Given the description of an element on the screen output the (x, y) to click on. 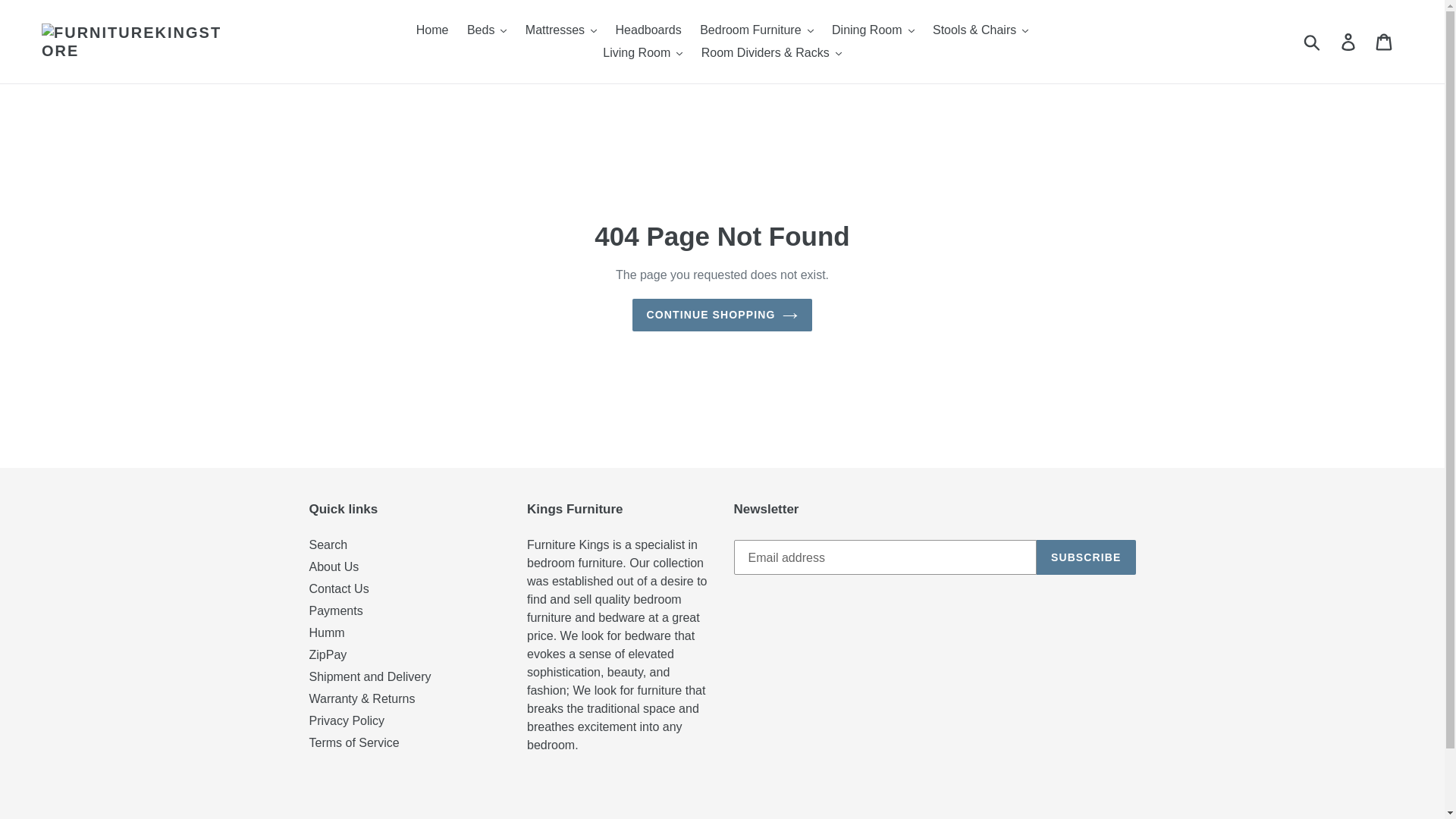
Headboards (648, 29)
Home (433, 29)
